Given the description of an element on the screen output the (x, y) to click on. 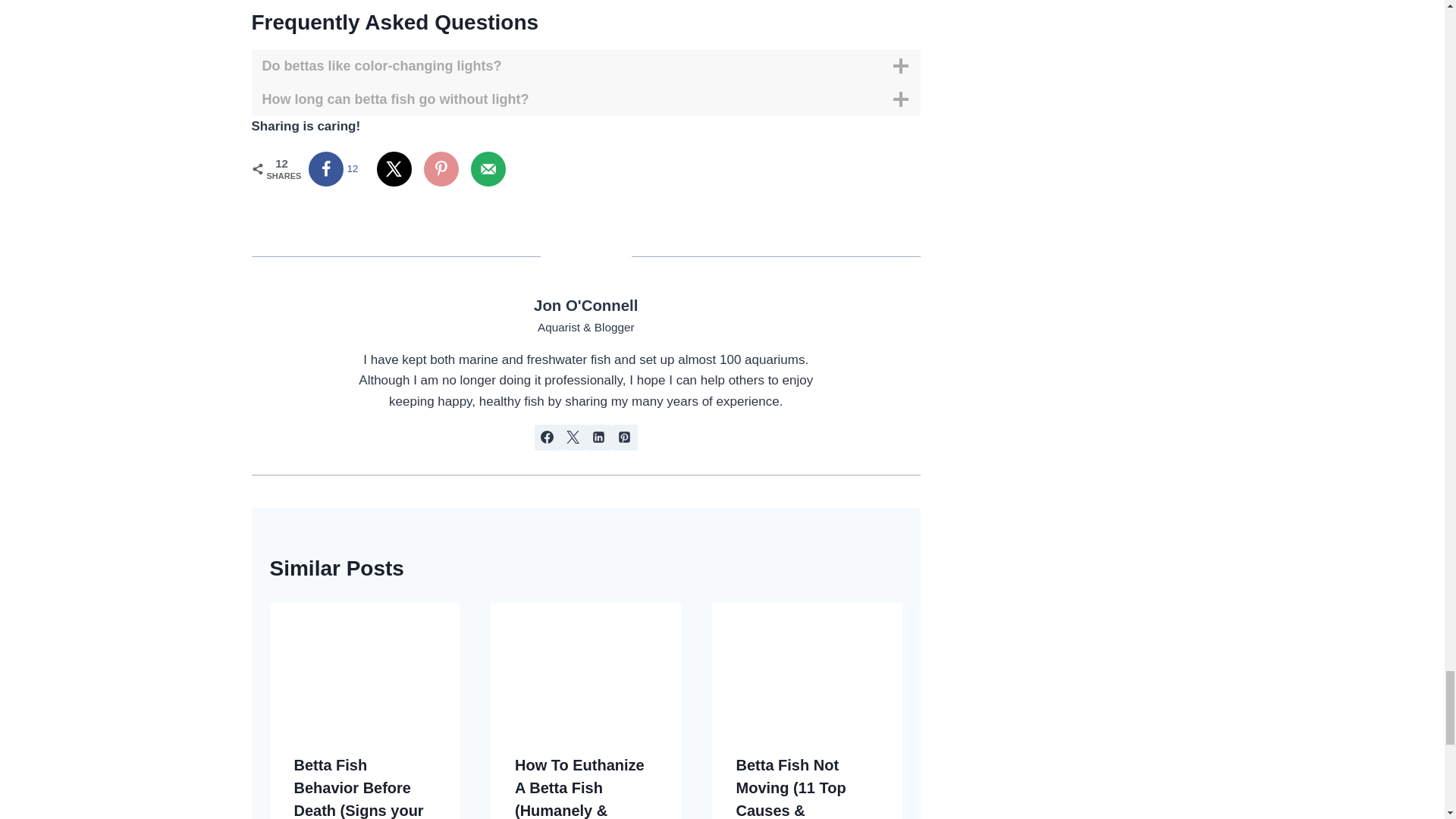
Follow Jon O'Connell on Facebook (547, 437)
Follow Jon O'Connell on X formerly Twitter (573, 437)
Send over email (487, 168)
Posts by Jon O'Connell (585, 305)
Save to Pinterest (440, 168)
Share on Facebook (335, 168)
Share on X (394, 168)
Follow Jon O'Connell on Linkedin (598, 437)
